Given the description of an element on the screen output the (x, y) to click on. 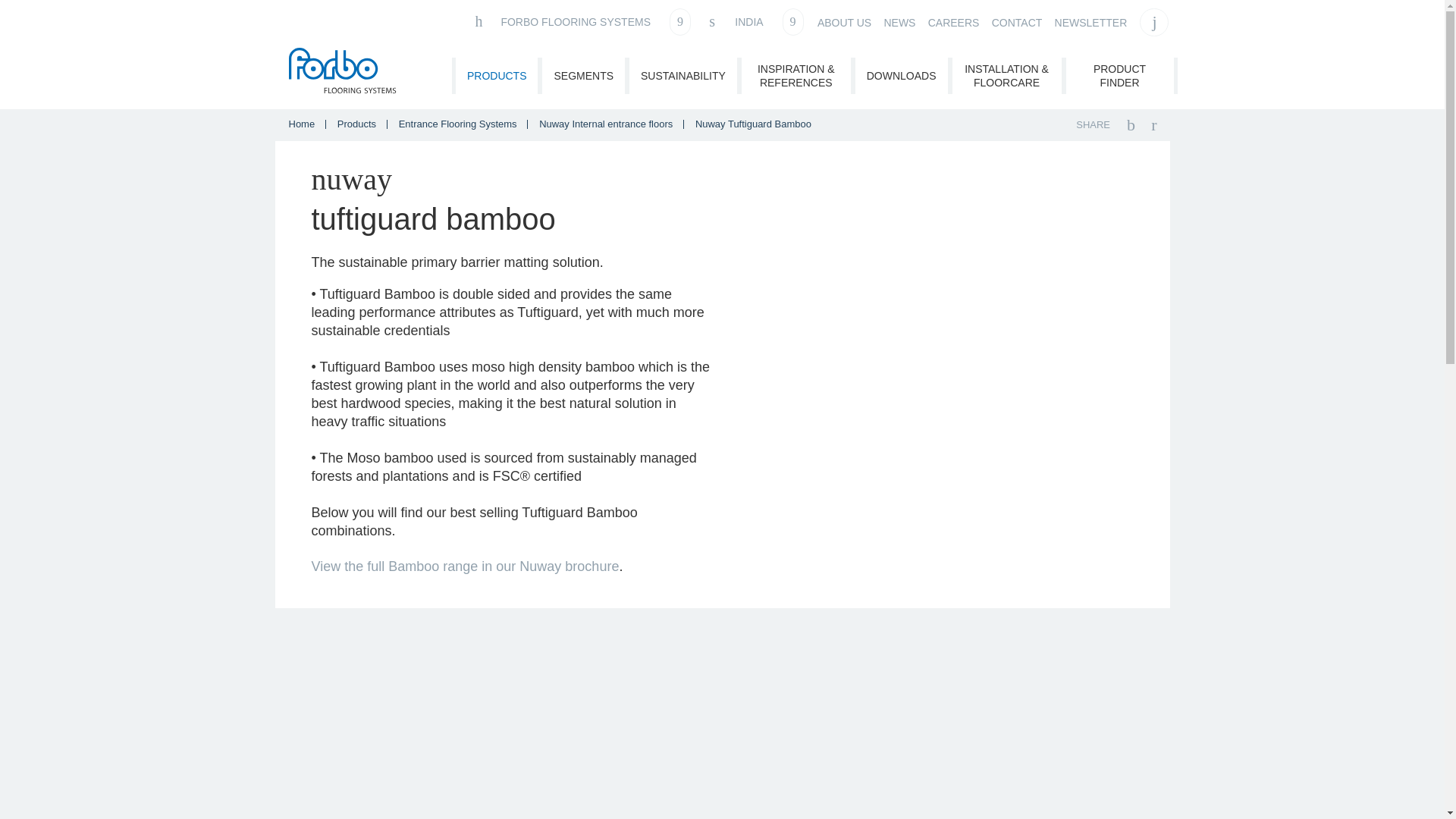
NEWS (899, 23)
ABOUT US (843, 23)
Forbo Flooring (344, 71)
DOWNLOADS (901, 75)
NEWS (899, 23)
CONTACT (1016, 23)
CAREERS (953, 23)
India (754, 22)
SUSTAINABILITY (682, 75)
INDIA (754, 22)
Nuway Internal entrance floors (606, 123)
ABOUT US (843, 23)
Search (1154, 21)
CONTACT (1016, 23)
PRODUCTS (497, 75)
